Given the description of an element on the screen output the (x, y) to click on. 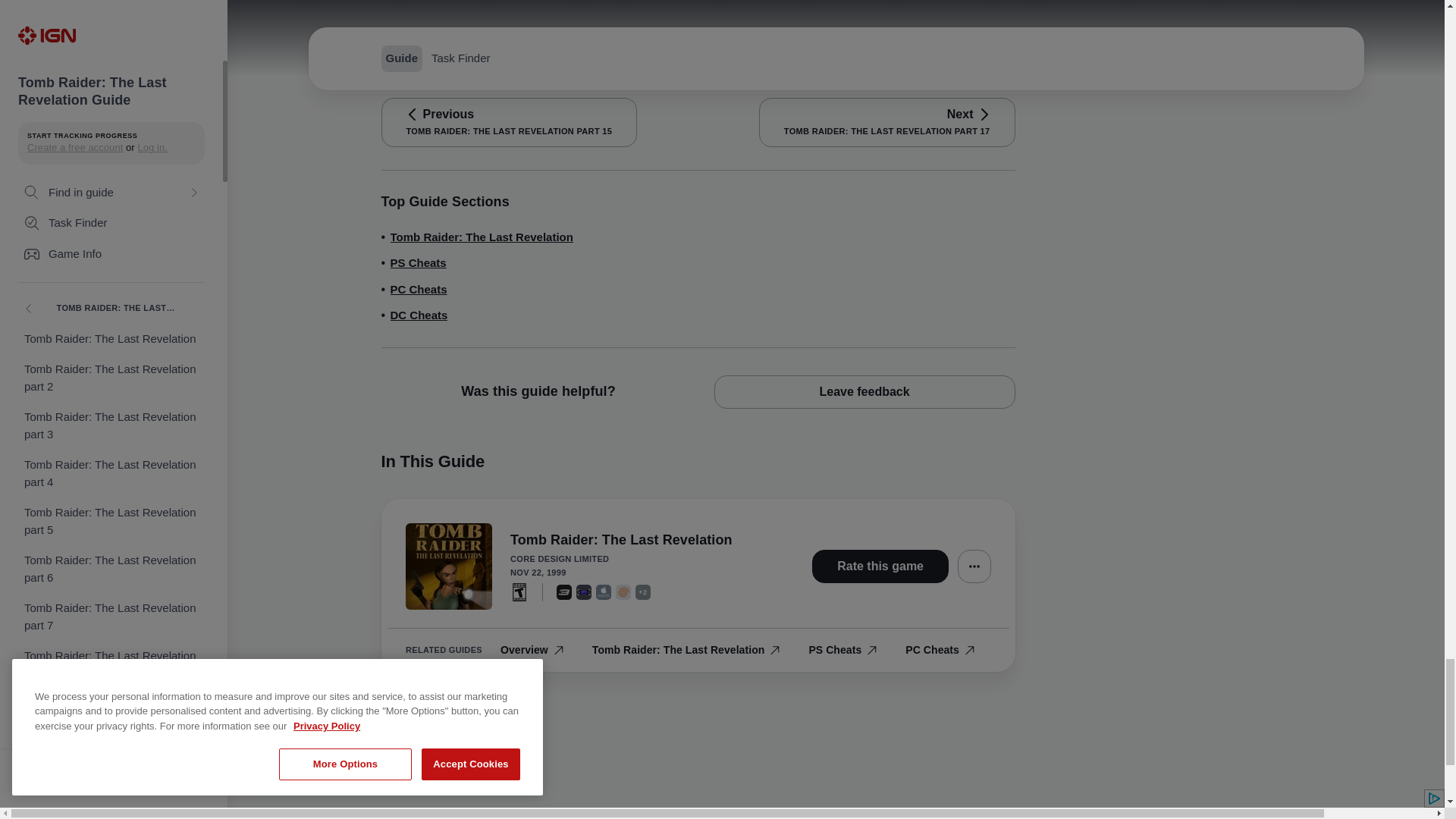
Dreamcast (622, 591)
ESRB: Teen (518, 592)
PlayStation 3 (564, 591)
PlayStation Portable (583, 591)
Macintosh (603, 591)
